Given the description of an element on the screen output the (x, y) to click on. 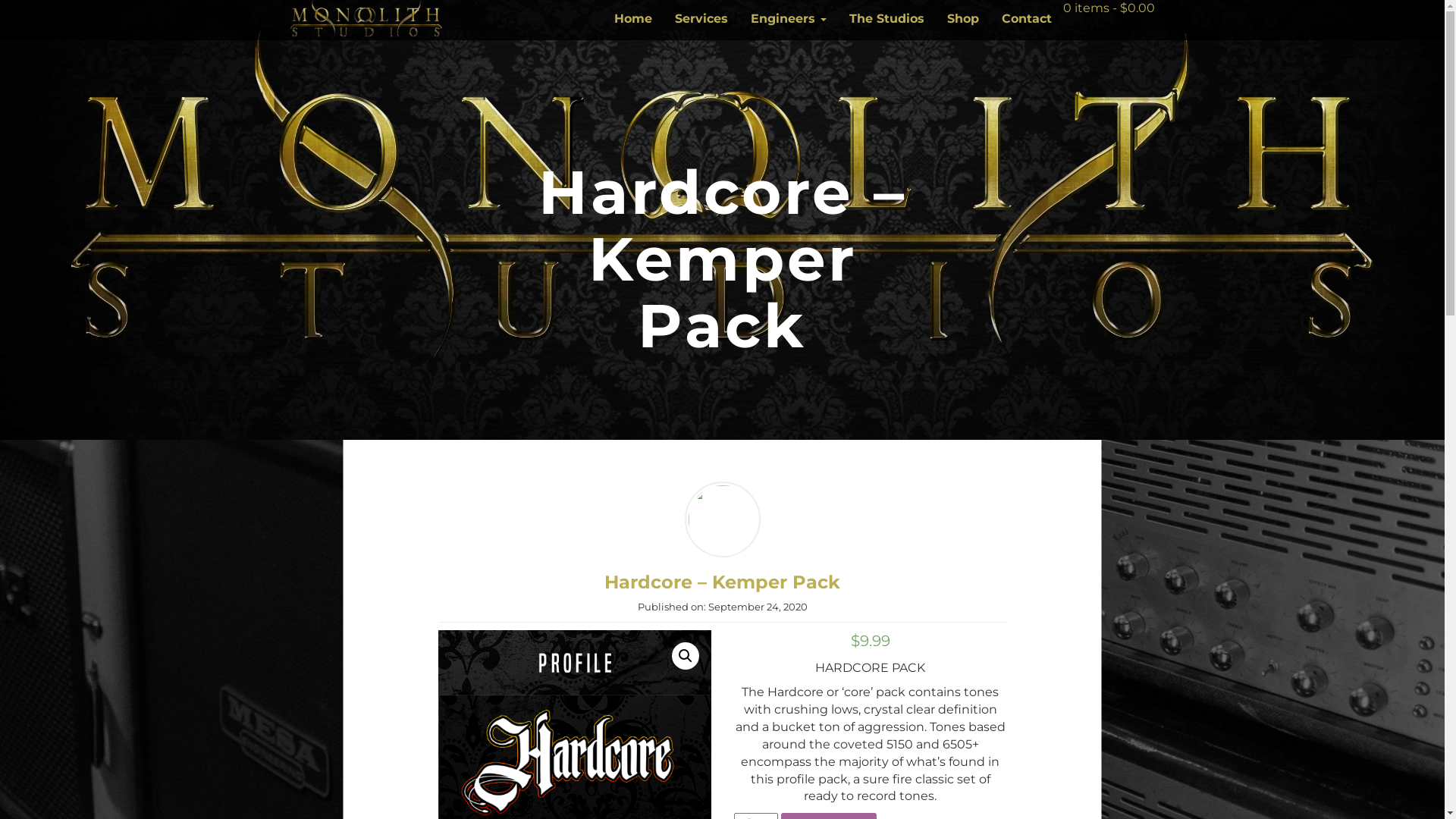
Home Element type: text (632, 18)
Engineers Element type: text (787, 18)
Contact Element type: text (1026, 18)
0 items - $0.00 Element type: text (1108, 7)
Services Element type: text (700, 18)
The Studios Element type: text (886, 18)
Monolith Studios Element type: hover (365, 18)
Shop Element type: text (962, 18)
